Given the description of an element on the screen output the (x, y) to click on. 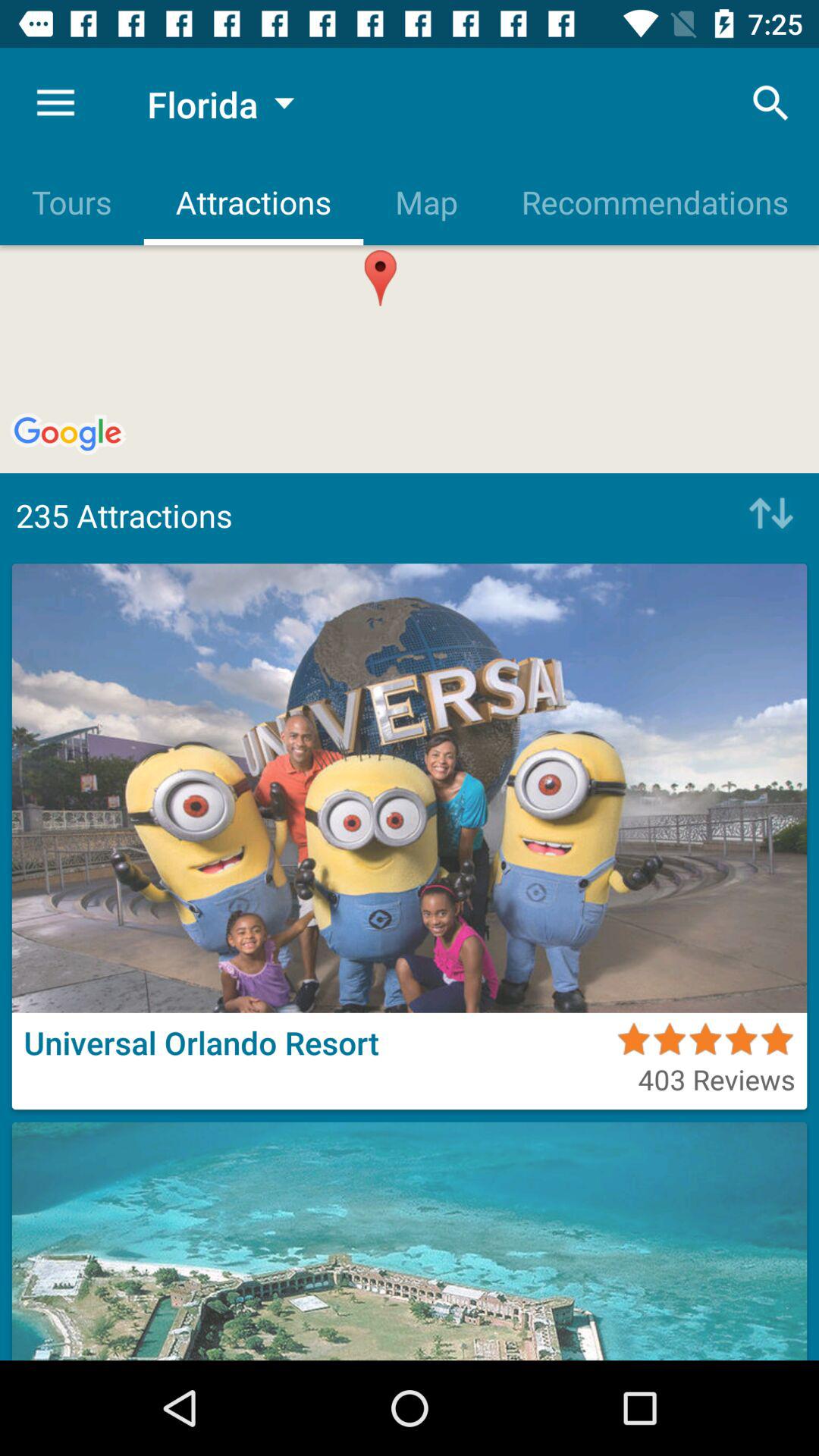
go up or down (767, 515)
